Given the description of an element on the screen output the (x, y) to click on. 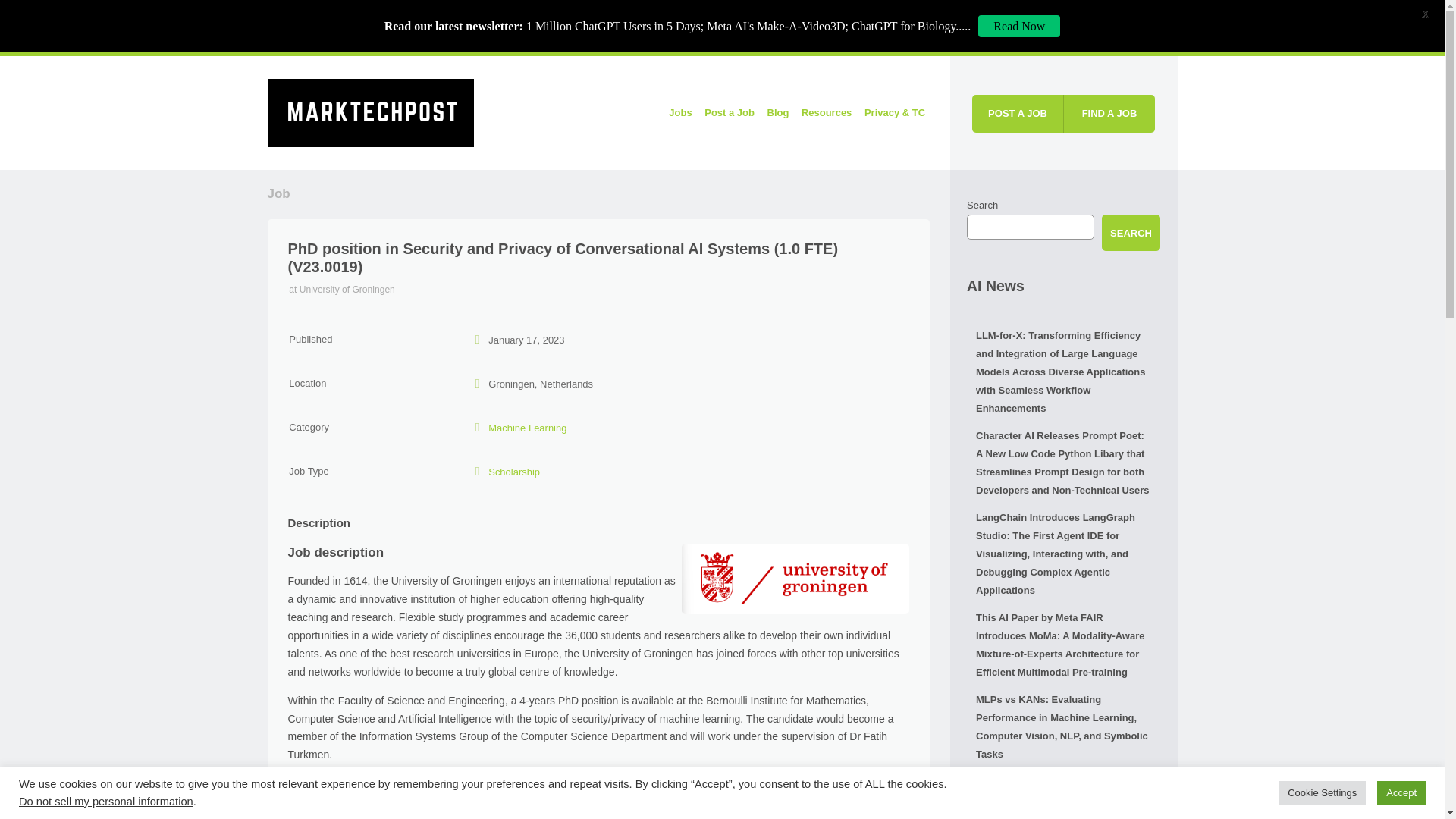
Blog (777, 112)
Skip to content (588, 112)
AI Jobs (369, 111)
Cookie Settings (1321, 792)
FIND A JOB (1108, 113)
Skip to content (588, 112)
Resources (826, 112)
Jobs (680, 112)
SEARCH (1131, 232)
Scholarship (513, 471)
